Given the description of an element on the screen output the (x, y) to click on. 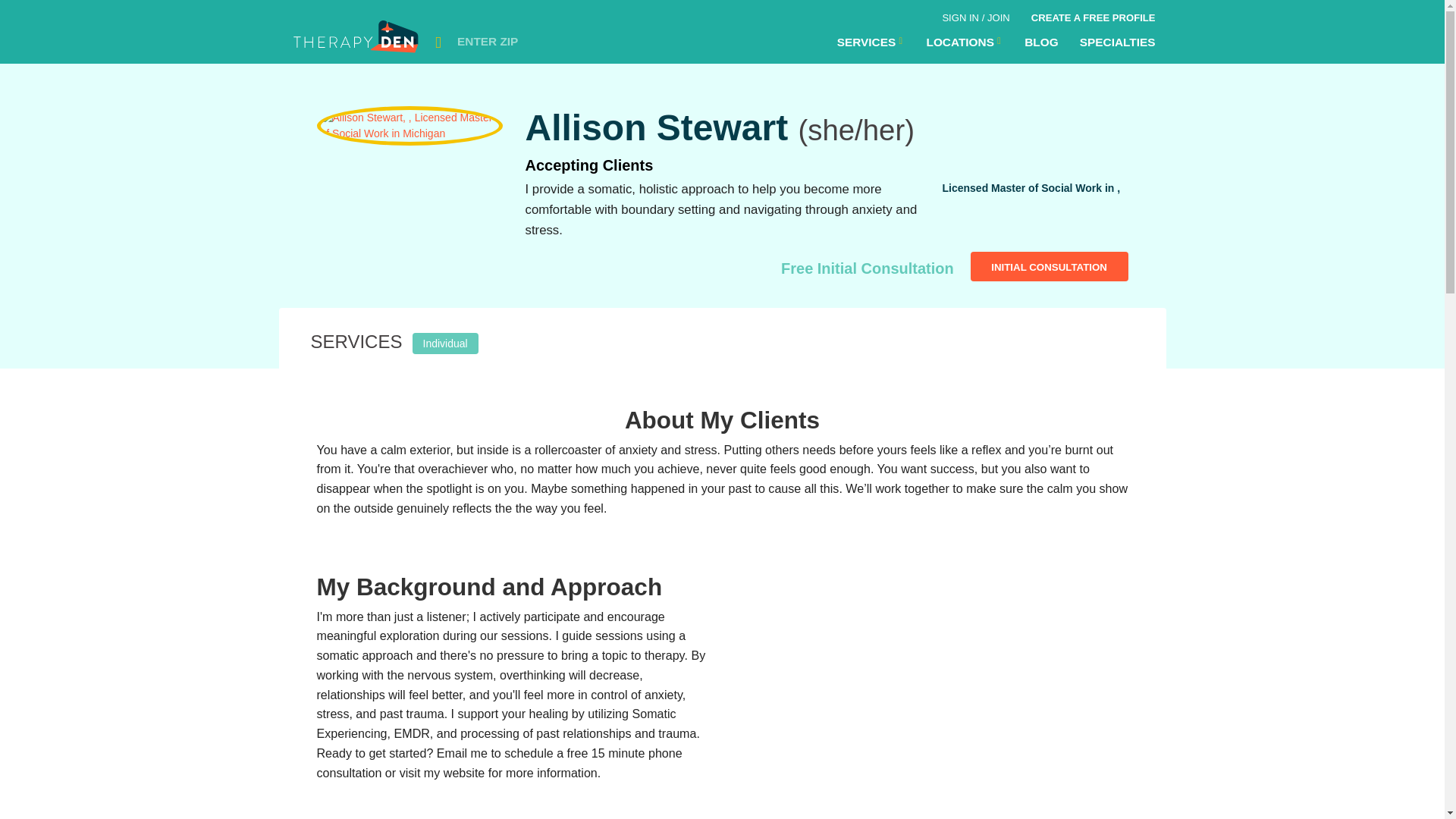
Send email to Allison Stewart (1049, 266)
TherapyDen Home (357, 41)
Locations (871, 41)
Blog (1040, 41)
INITIAL CONSULTATION (1049, 266)
Individual (445, 341)
BLOG (1040, 41)
SPECIALTIES (1117, 41)
Specialties (1117, 41)
LOCATIONS (964, 41)
